Given the description of an element on the screen output the (x, y) to click on. 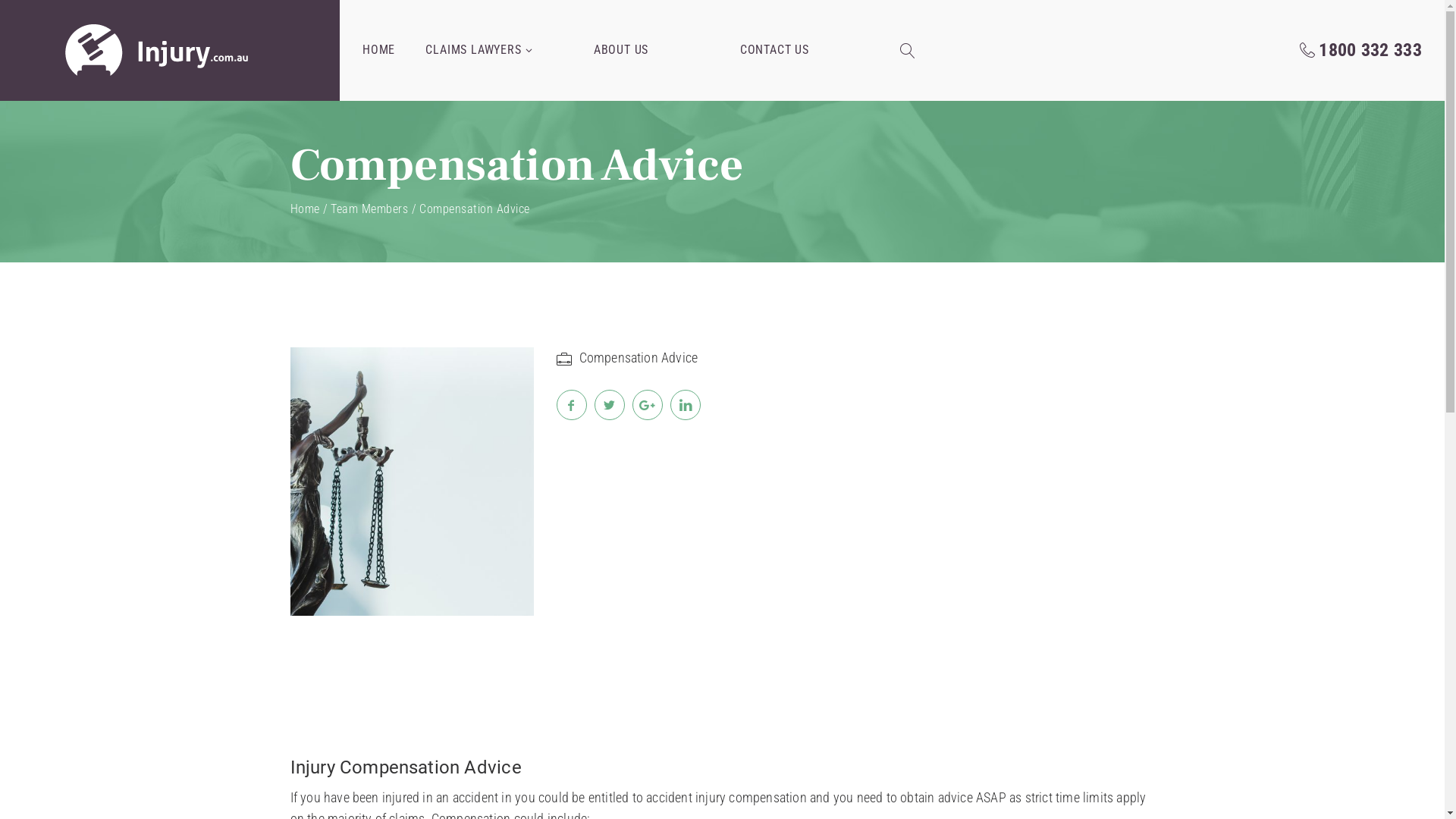
HOME Element type: text (378, 49)
CONTACT US Element type: text (774, 49)
CLAIMS LAWYERS Element type: text (478, 49)
Injury.com.au - The fastest service Element type: hover (158, 50)
ABOUT US Element type: text (620, 49)
Team Members Element type: text (368, 208)
Home Element type: text (304, 208)
